Given the description of an element on the screen output the (x, y) to click on. 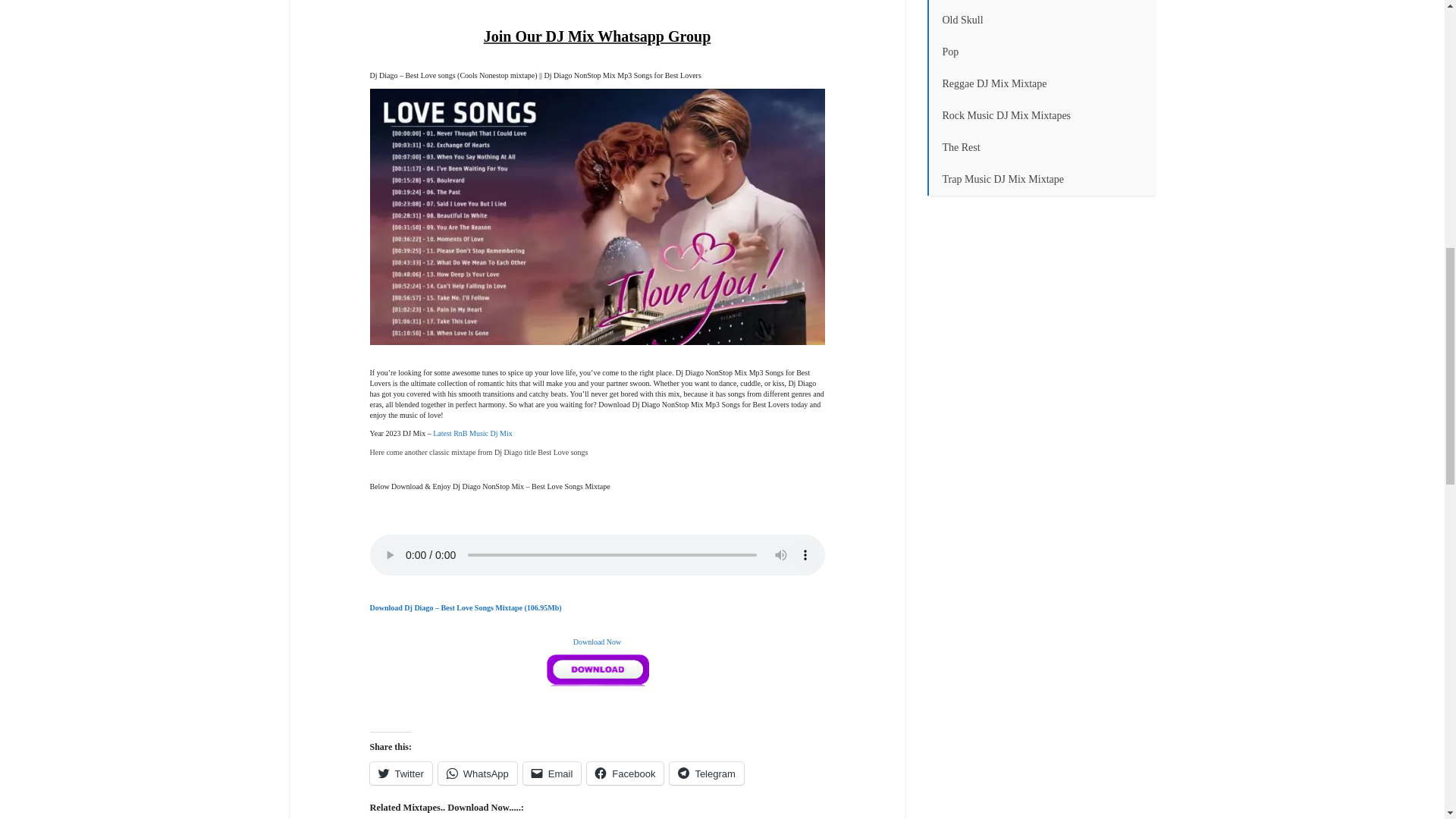
Dj Diago NonStop Mix Mp3 Songs for Best Lovers (597, 216)
Click to email a link to a friend (551, 773)
Click to share on WhatsApp (477, 773)
Click to share on Twitter (400, 773)
Latest RnB Music Dj Mix (472, 433)
Join Our DJ Mix Whatsapp Group (597, 36)
Click to share on Telegram (705, 773)
Twitter (400, 773)
Click to share on Facebook (624, 773)
Download Now (597, 642)
